Given the description of an element on the screen output the (x, y) to click on. 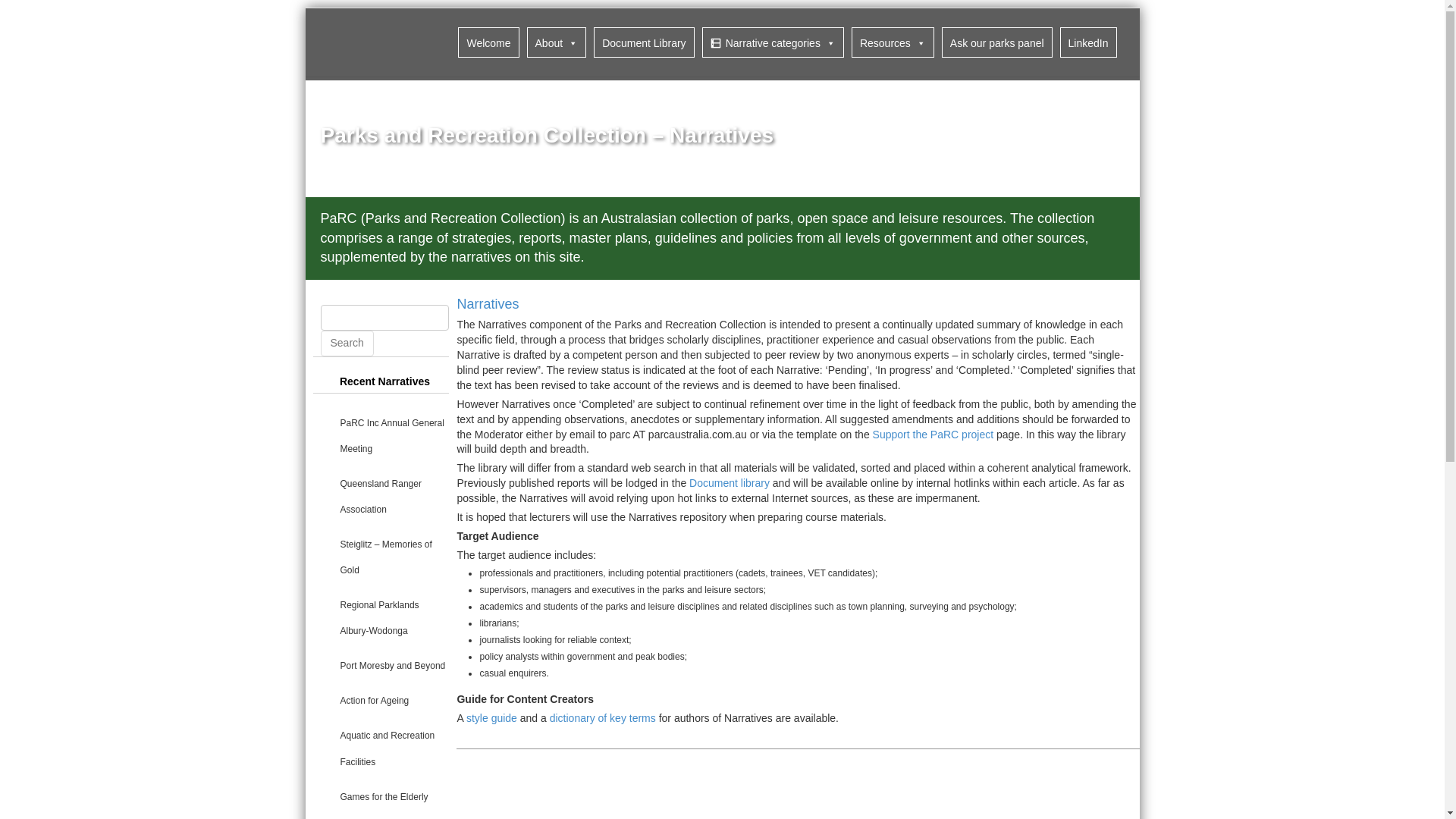
About (556, 42)
Ask our parks panel (997, 42)
Welcome (488, 42)
Document Library (644, 42)
Resources (892, 42)
LinkedIn (1087, 42)
Search (346, 343)
Narrative categories (772, 42)
